Given the description of an element on the screen output the (x, y) to click on. 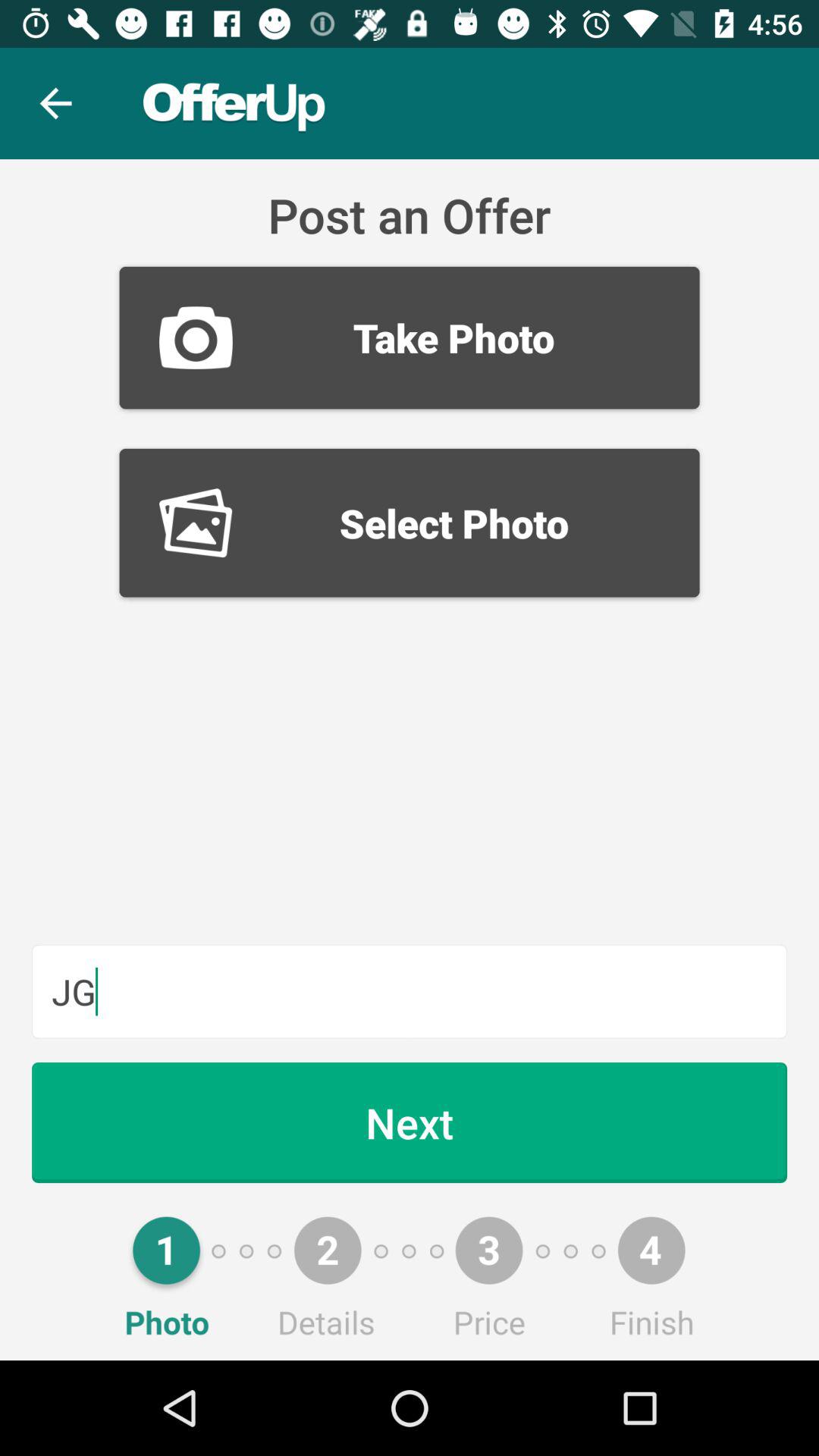
open the icon below select photo item (409, 991)
